Given the description of an element on the screen output the (x, y) to click on. 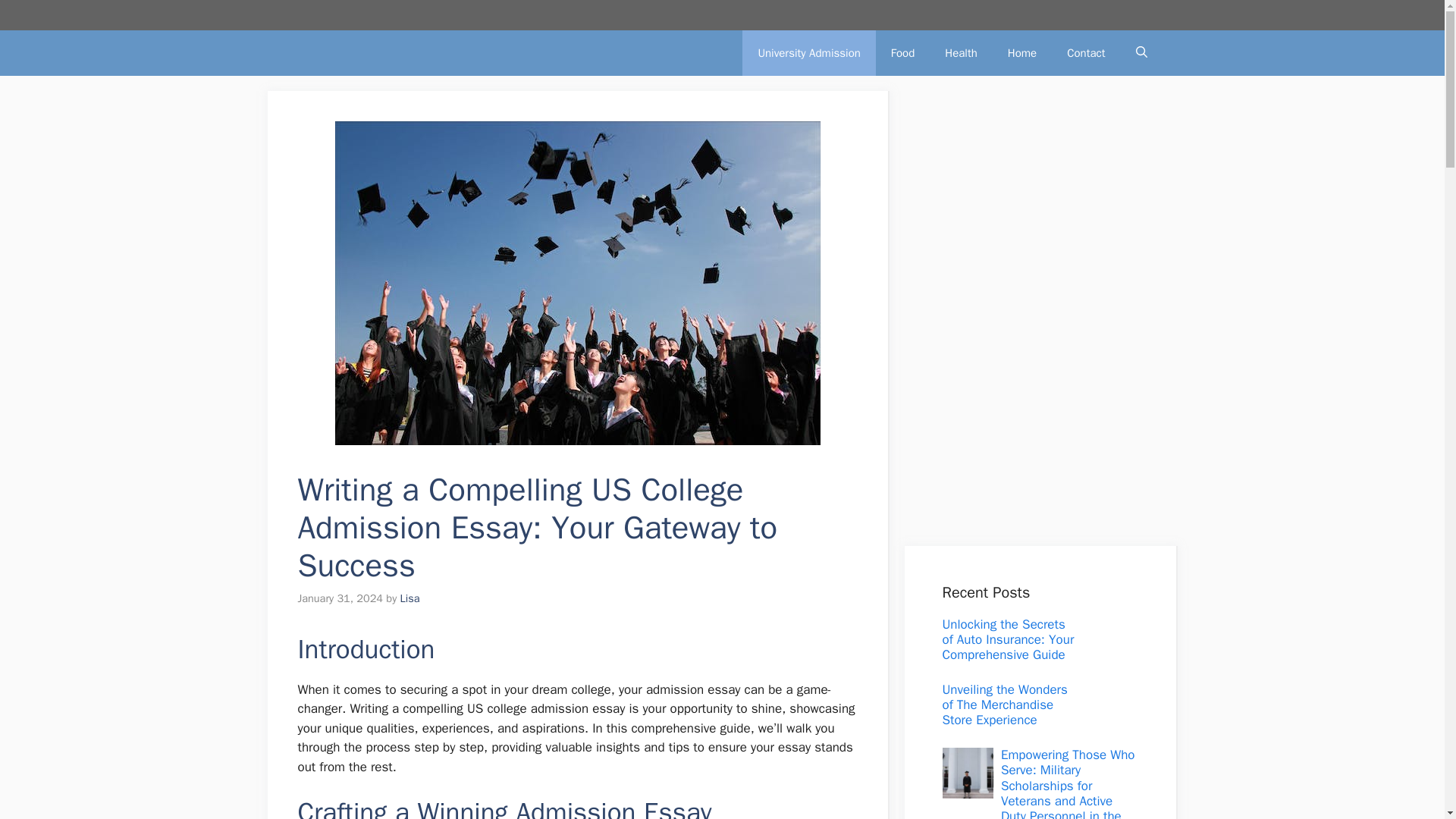
Home (1021, 53)
Contact (1085, 53)
University Admission (808, 53)
Unveiling the Wonders of The Merchandise Store Experience (1004, 704)
Food (903, 53)
Lisa (410, 598)
View all posts by Lisa (410, 598)
Health (961, 53)
